Given the description of an element on the screen output the (x, y) to click on. 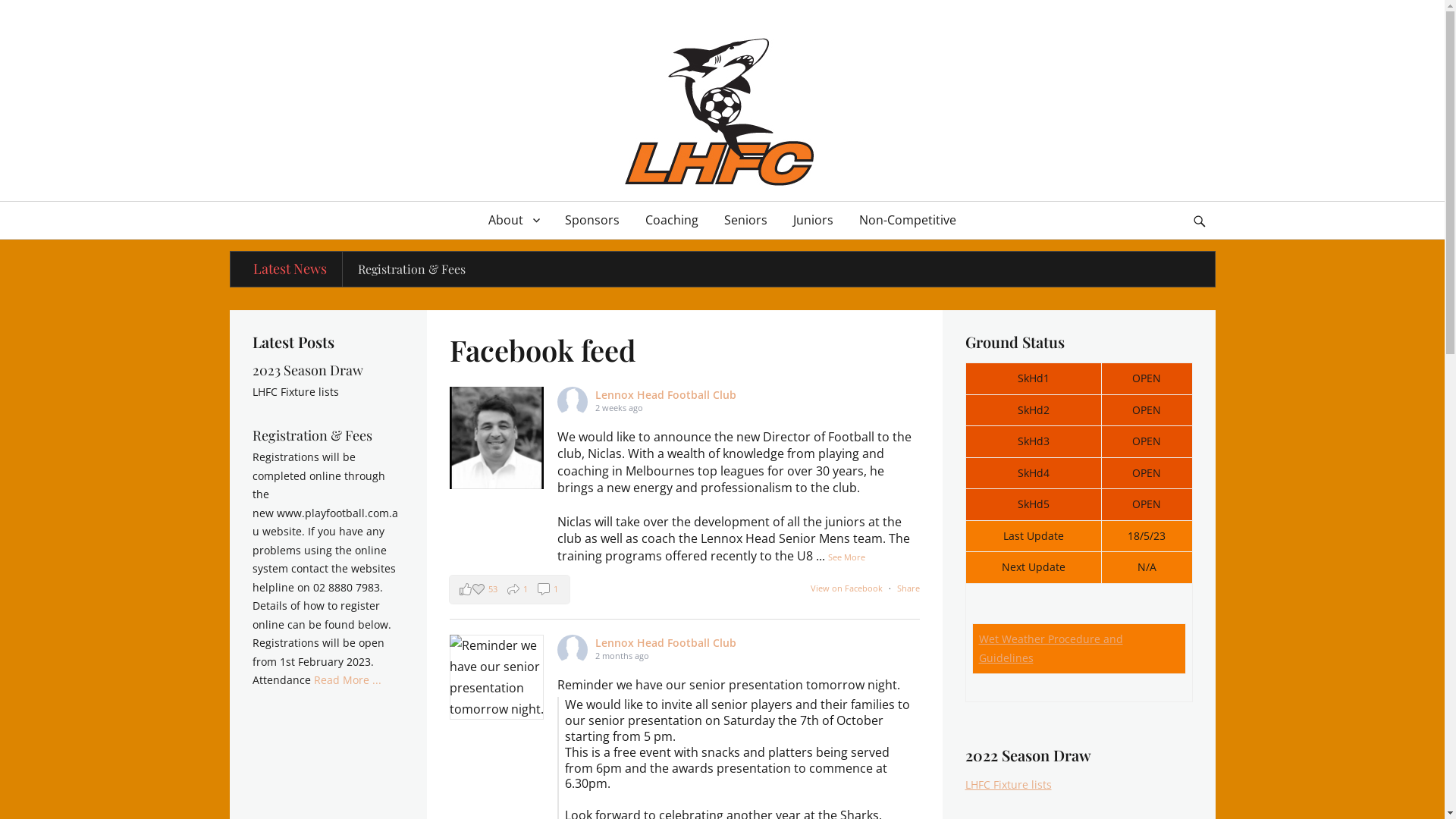
Share Element type: text (907, 587)
Lennox Head Football Club Element type: text (665, 642)
View Comments
Likes:
53
Shares:
1
Comments:
1 Element type: text (508, 589)
View on Facebook Element type: text (845, 587)
2023 Season Draw Element type: text (306, 369)
Search Element type: text (1205, 200)
LHFC Fixture lists Element type: text (1007, 784)
Seniors Element type: text (745, 219)
Coaching Element type: text (671, 219)
Lennox Head Football Club Element type: text (1037, 53)
Sponsors Element type: text (591, 219)
Wet Weather Procedure and Guidelines Element type: text (1050, 648)
Registration & Fees Element type: text (311, 435)
Read More ... Element type: text (347, 679)
See More Element type: text (846, 556)
Juniors Element type: text (812, 219)
Non-Competitive Element type: text (907, 219)
About Element type: text (513, 219)
Lennox Head Football Club Element type: text (665, 394)
2023 Season Draw Element type: text (407, 268)
